Given the description of an element on the screen output the (x, y) to click on. 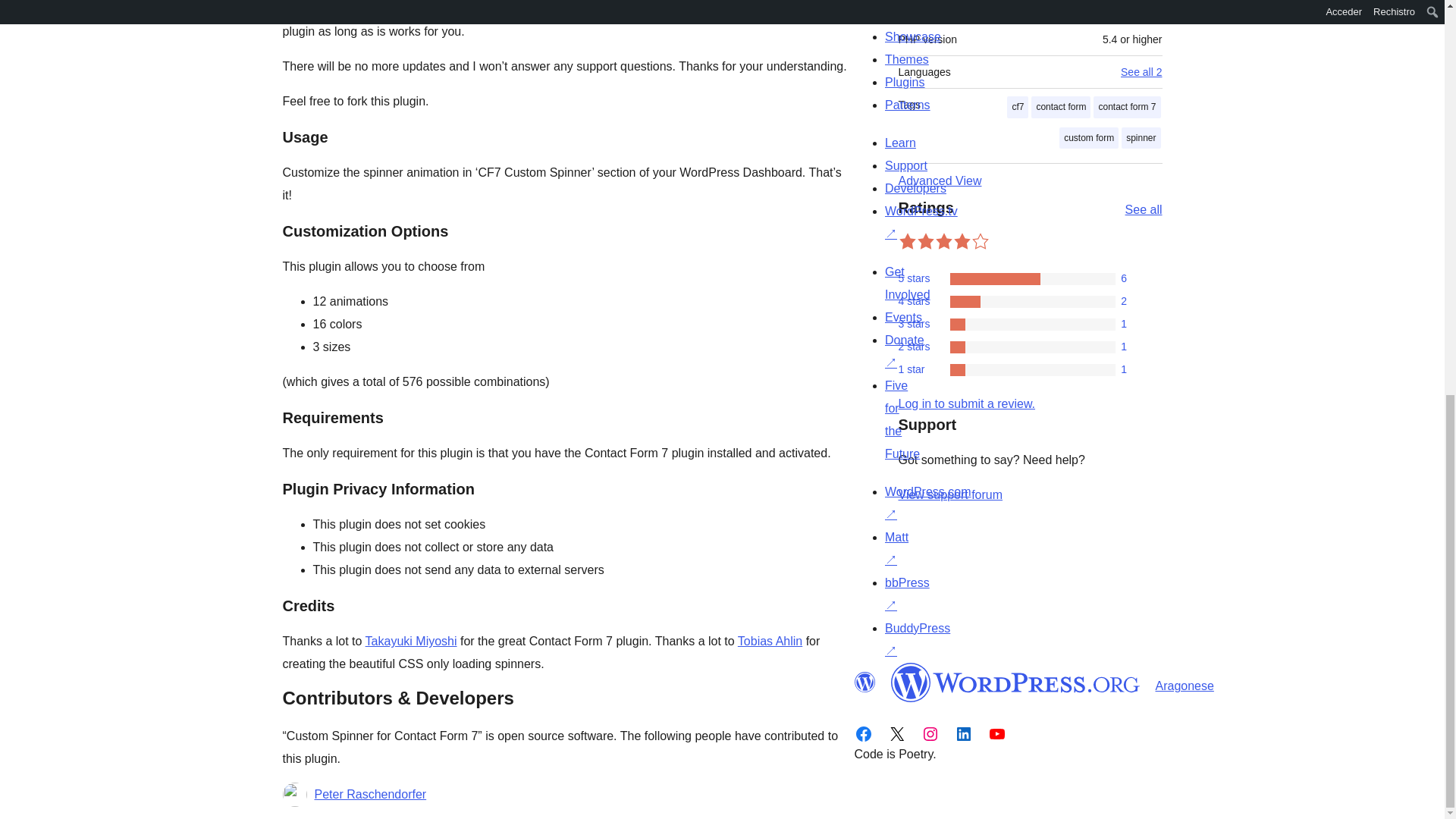
Takayuki Miyoshi (411, 640)
WordPress.org (864, 681)
Tobias Ahlin (770, 640)
WordPress.org (1014, 681)
Log in to WordPress.org (966, 403)
